Given the description of an element on the screen output the (x, y) to click on. 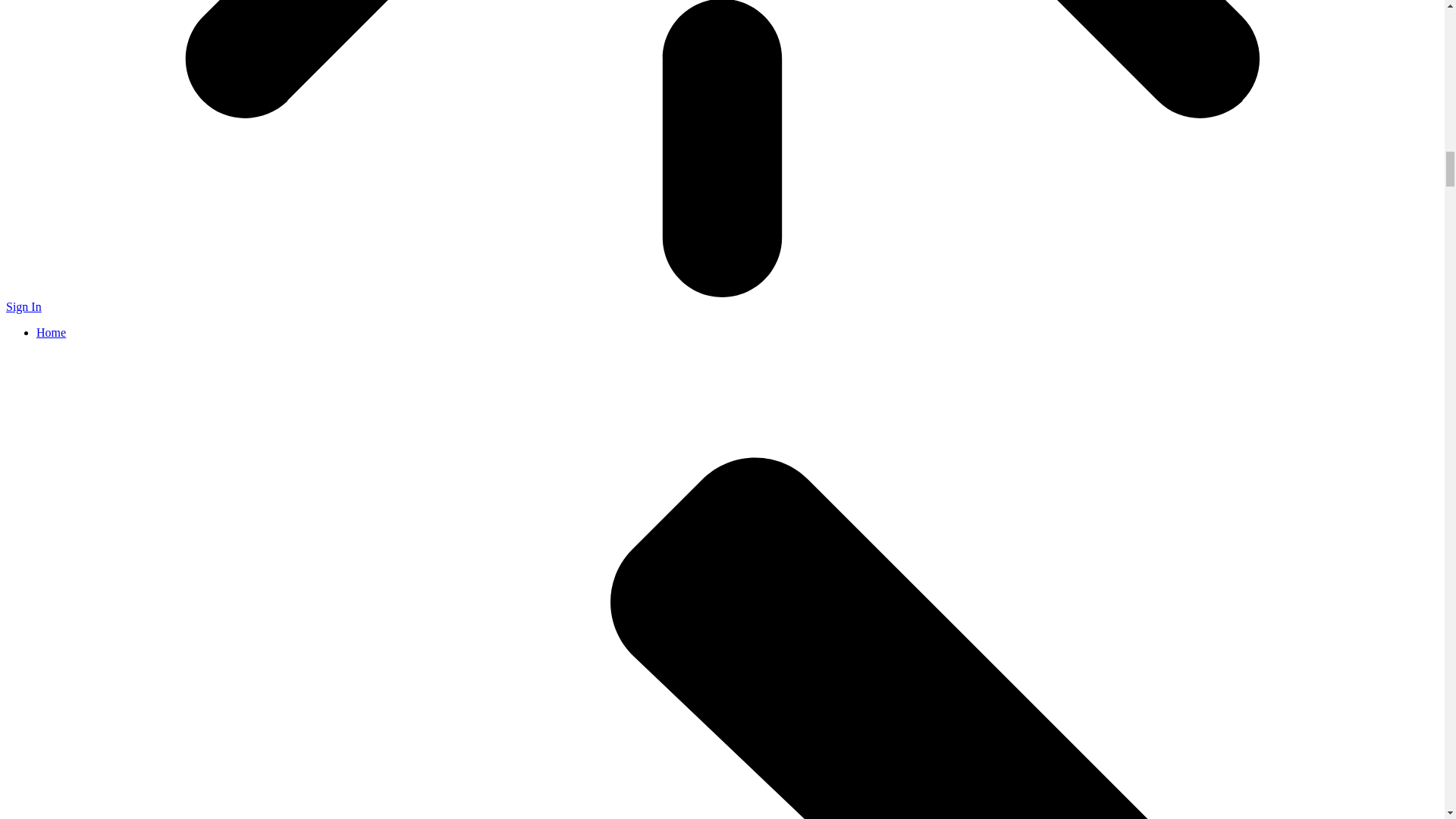
Sign In (23, 306)
Home (50, 332)
